Given the description of an element on the screen output the (x, y) to click on. 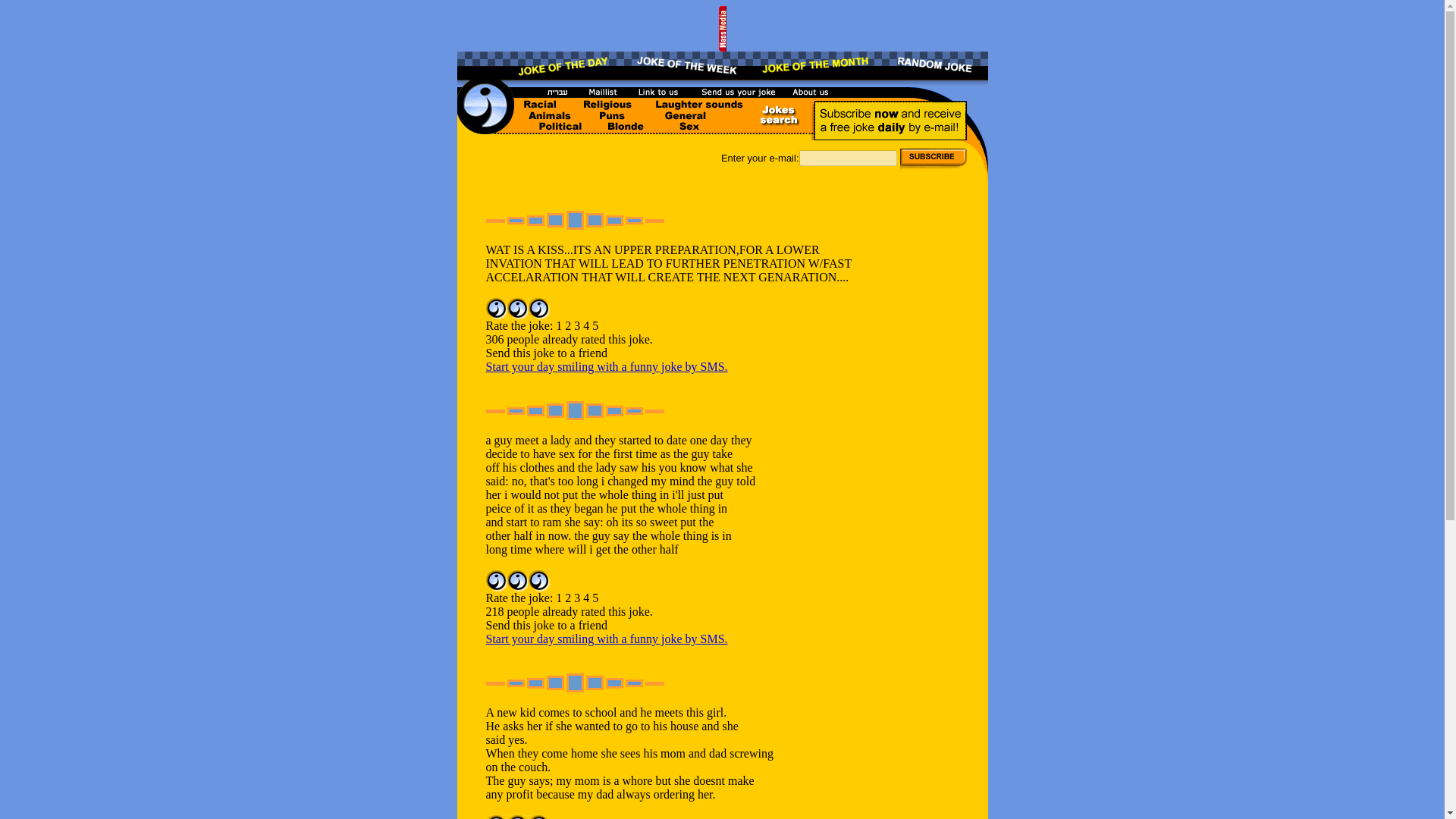
Send this joke to a friend (545, 352)
Start your day smiling with a funny joke by SMS. (605, 366)
Start your day smiling with a funny joke by SMS. (605, 638)
Send this joke to a friend (545, 625)
